Given the description of an element on the screen output the (x, y) to click on. 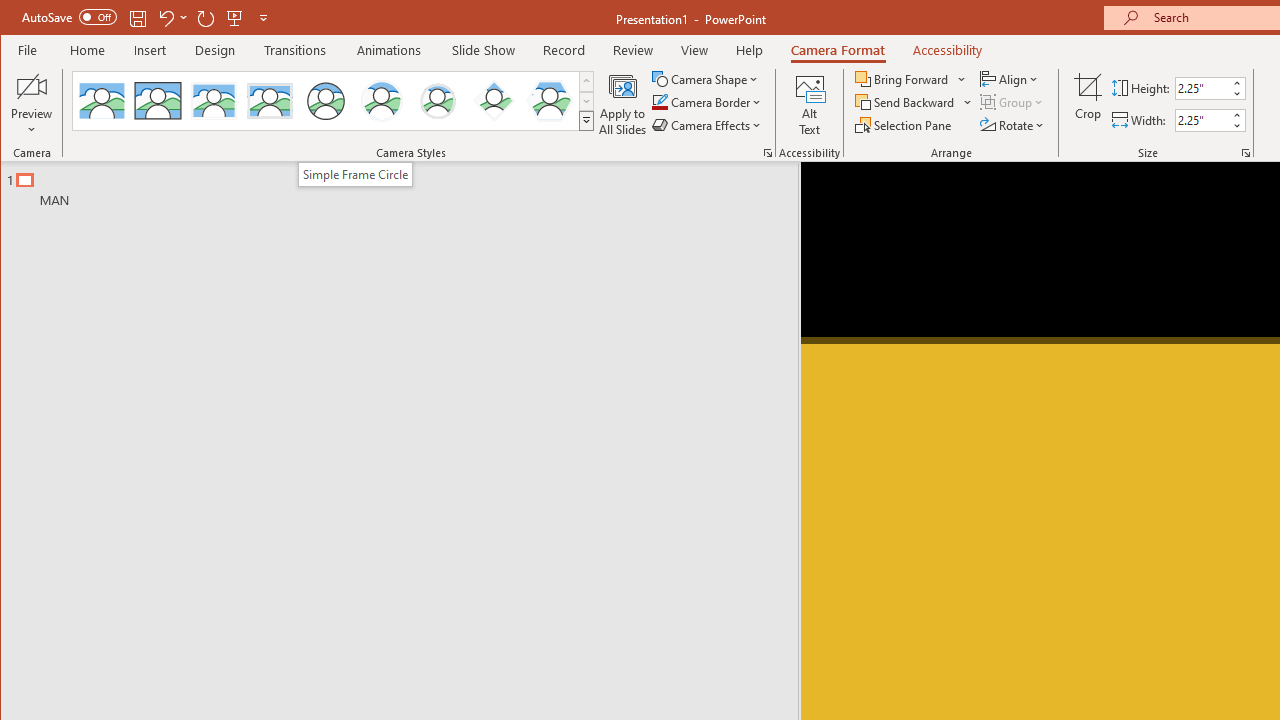
Simple Frame Circle (326, 100)
Apply to All Slides (622, 104)
Send Backward (906, 101)
Center Shadow Diamond (493, 100)
Center Shadow Rectangle (213, 100)
Bring Forward (903, 78)
Camera Format (838, 50)
Camera Border (706, 101)
Selection Pane... (904, 124)
Camera Styles (585, 120)
